Given the description of an element on the screen output the (x, y) to click on. 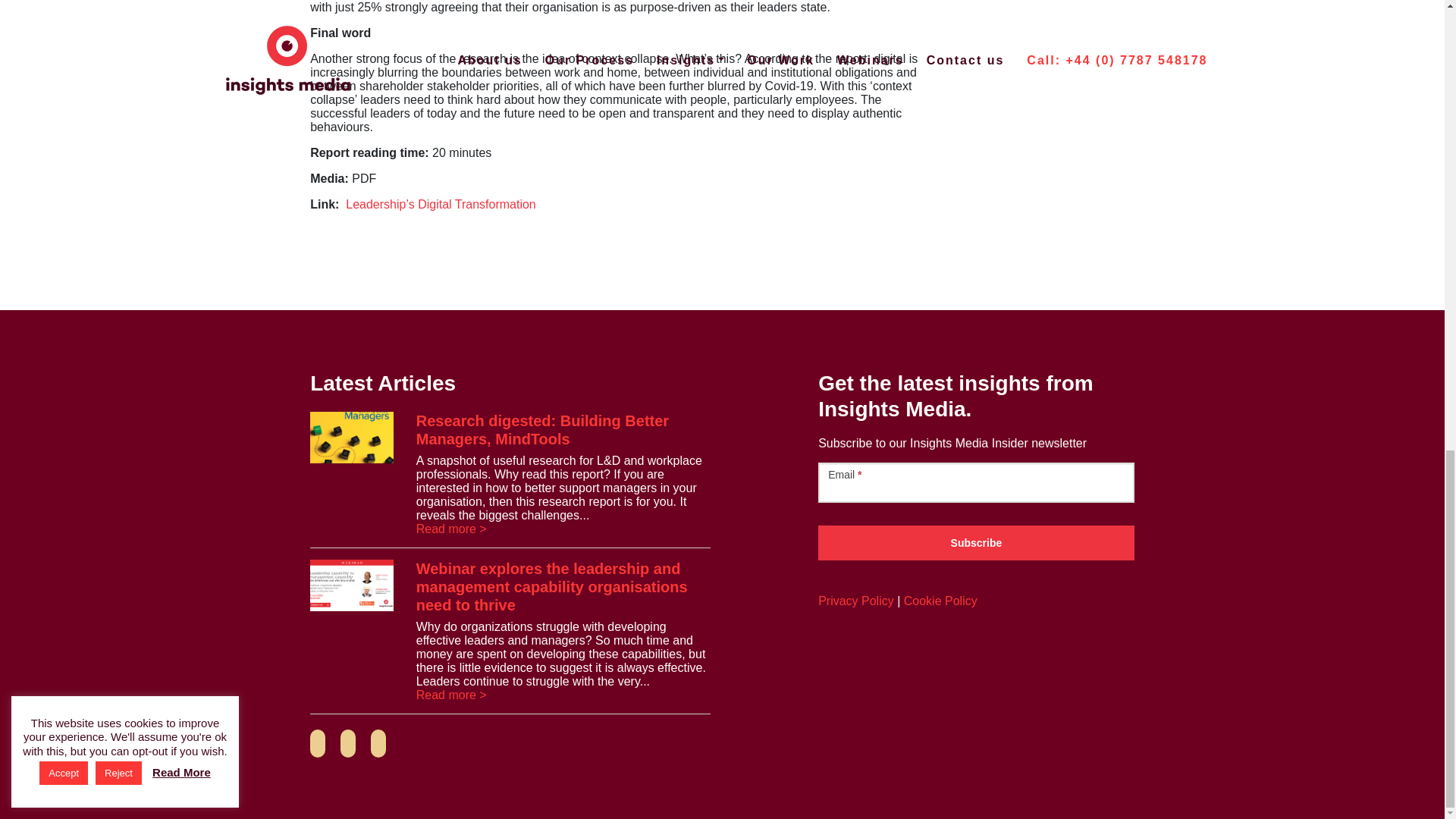
Research digested: Building Better Managers, MindTools (542, 429)
Privacy Policy (855, 600)
Subscribe (976, 542)
Cookie Policy (940, 600)
